Given the description of an element on the screen output the (x, y) to click on. 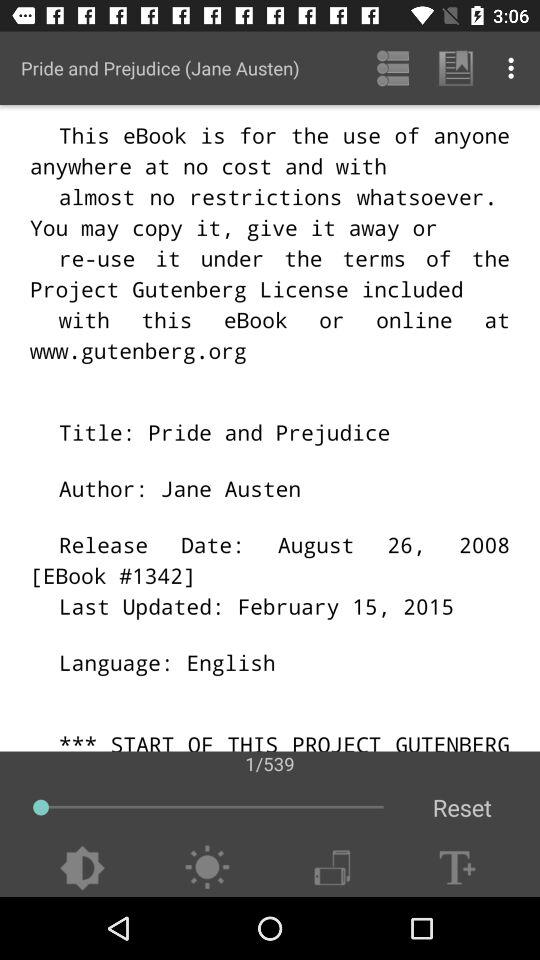
flip until pride and prejudice (160, 67)
